Given the description of an element on the screen output the (x, y) to click on. 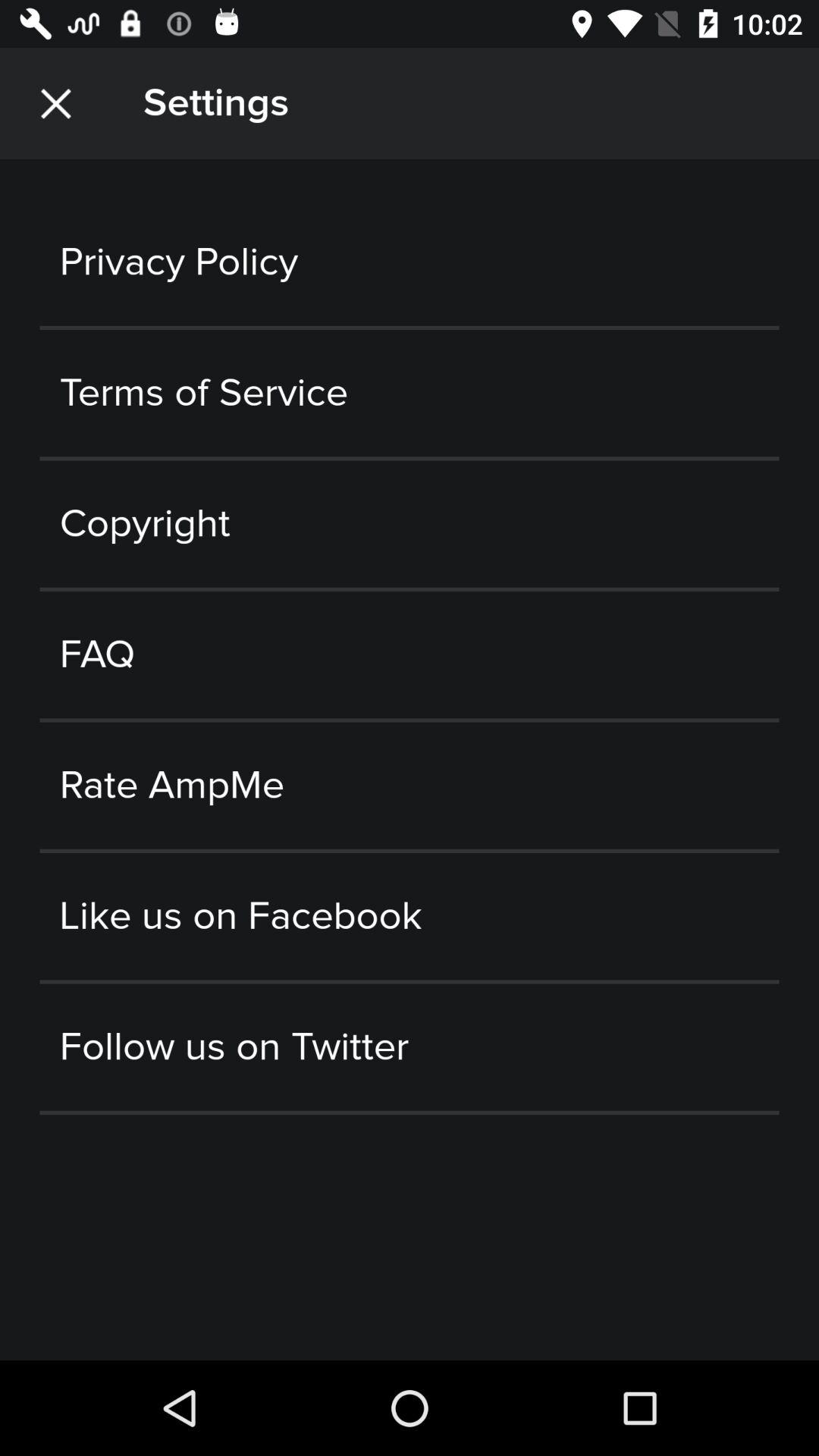
press item next to settings icon (55, 103)
